Given the description of an element on the screen output the (x, y) to click on. 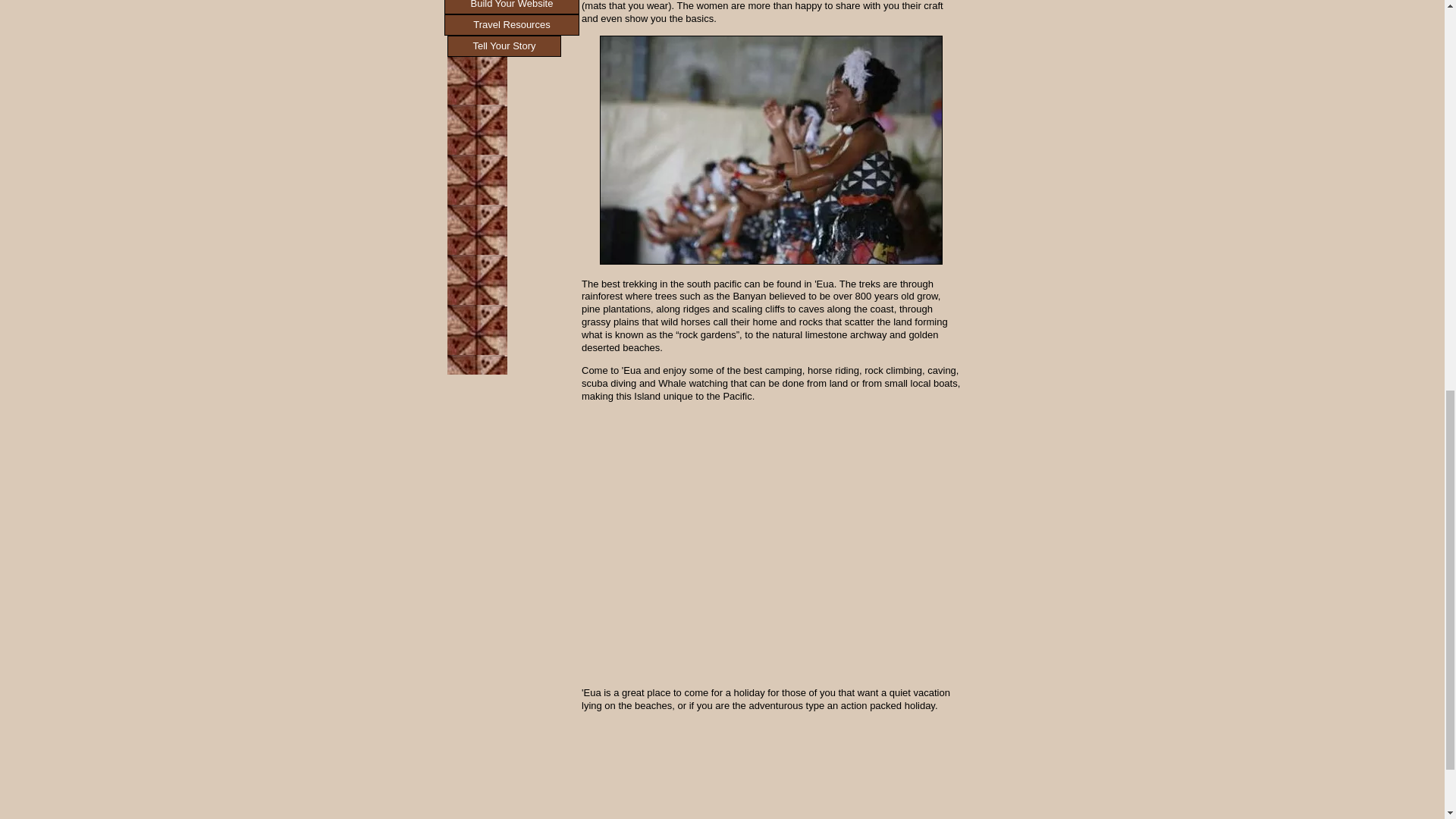
culture (770, 150)
Build Your Website (511, 7)
Travel Resources (511, 25)
Tell Your Story (503, 46)
